Given the description of an element on the screen output the (x, y) to click on. 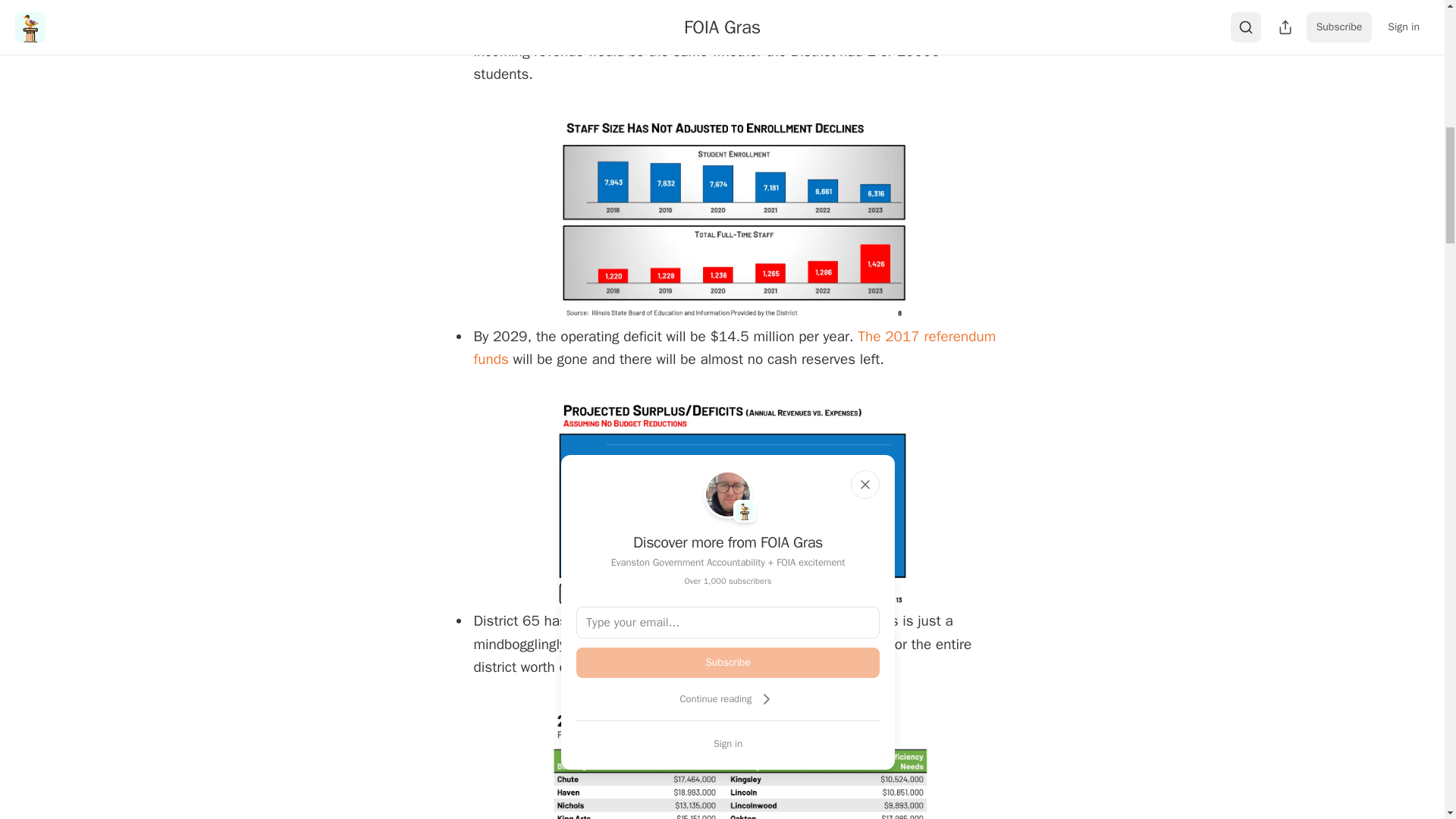
Subscribe (727, 662)
The 2017 referendum funds (734, 347)
Sign in (727, 743)
